Given the description of an element on the screen output the (x, y) to click on. 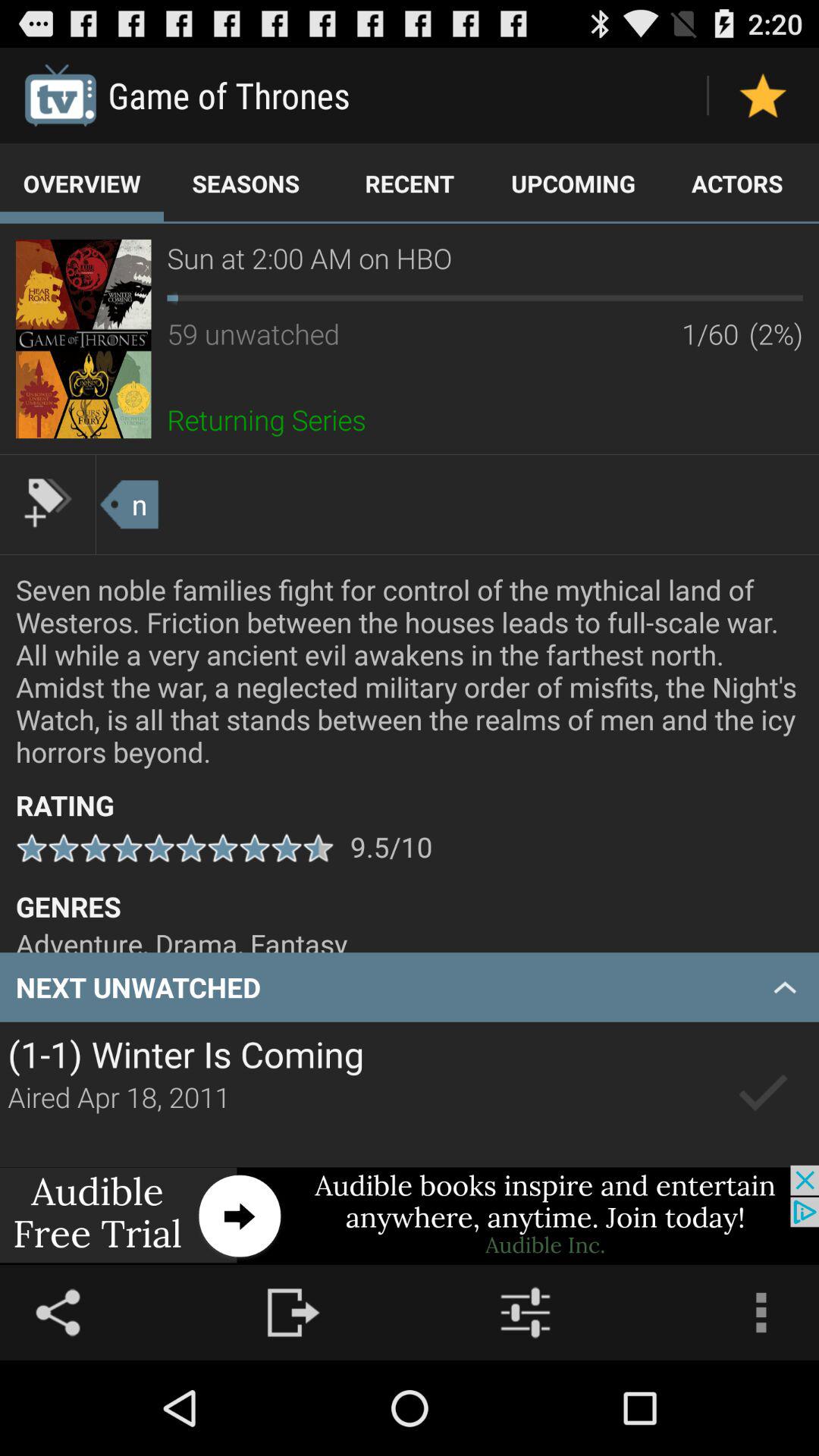
add to favorites (763, 95)
